Given the description of an element on the screen output the (x, y) to click on. 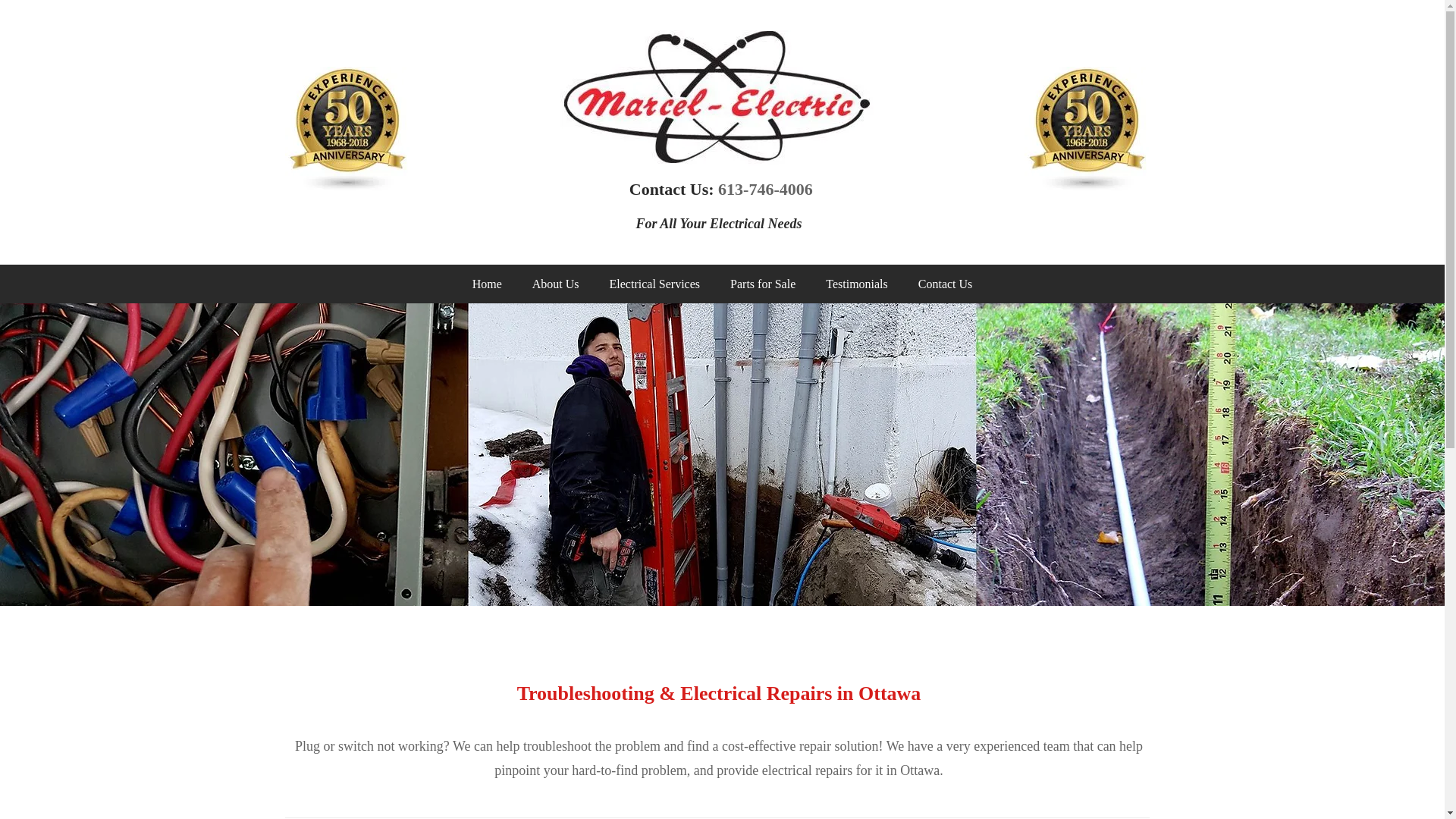
Contact Us (945, 283)
Parts for Sale (762, 283)
Home (486, 283)
Electrical Services (655, 283)
About Us (555, 283)
Testimonials (856, 283)
613-746-4006 (764, 189)
